Given the description of an element on the screen output the (x, y) to click on. 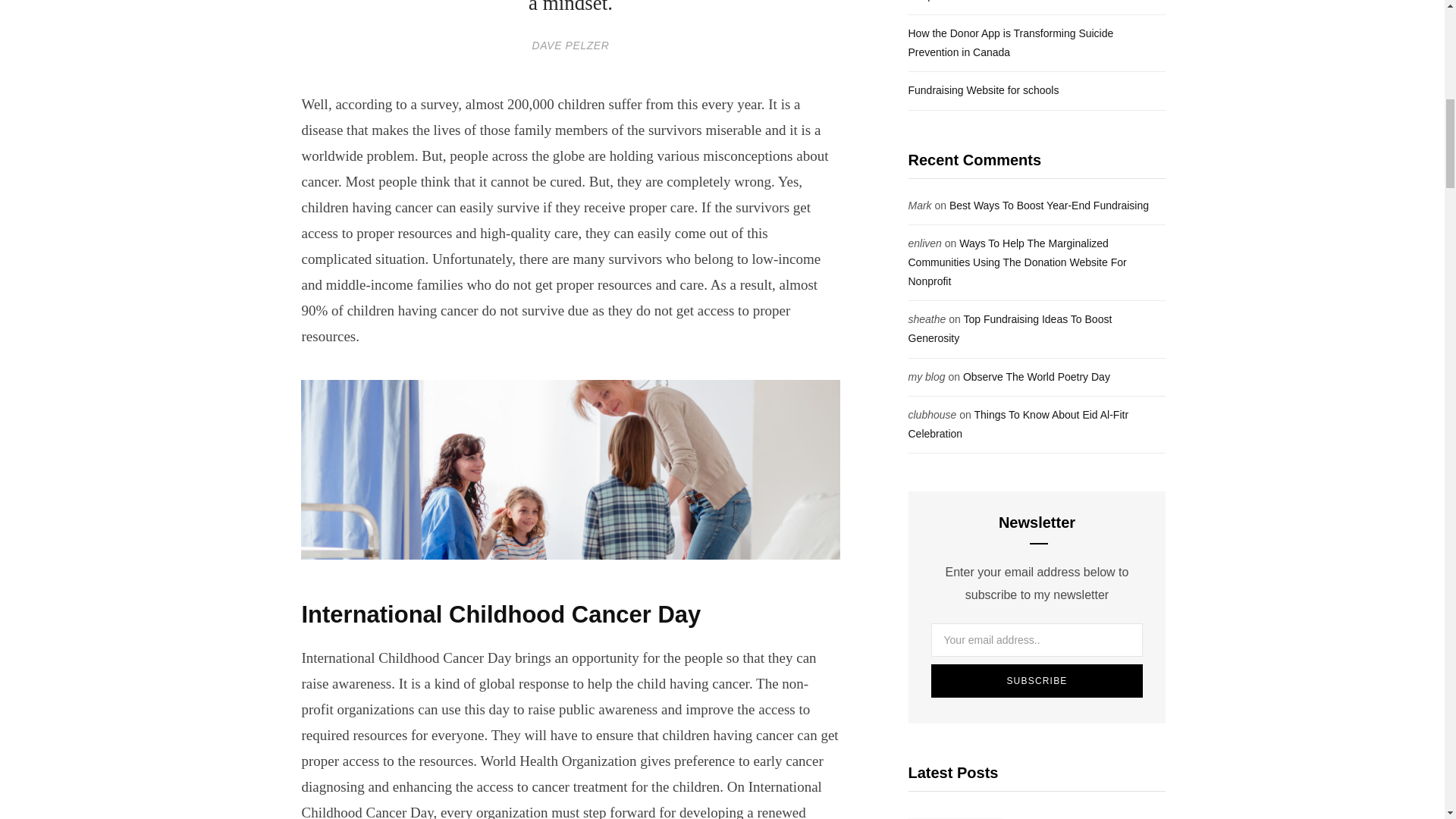
Subscribe (1036, 680)
